Given the description of an element on the screen output the (x, y) to click on. 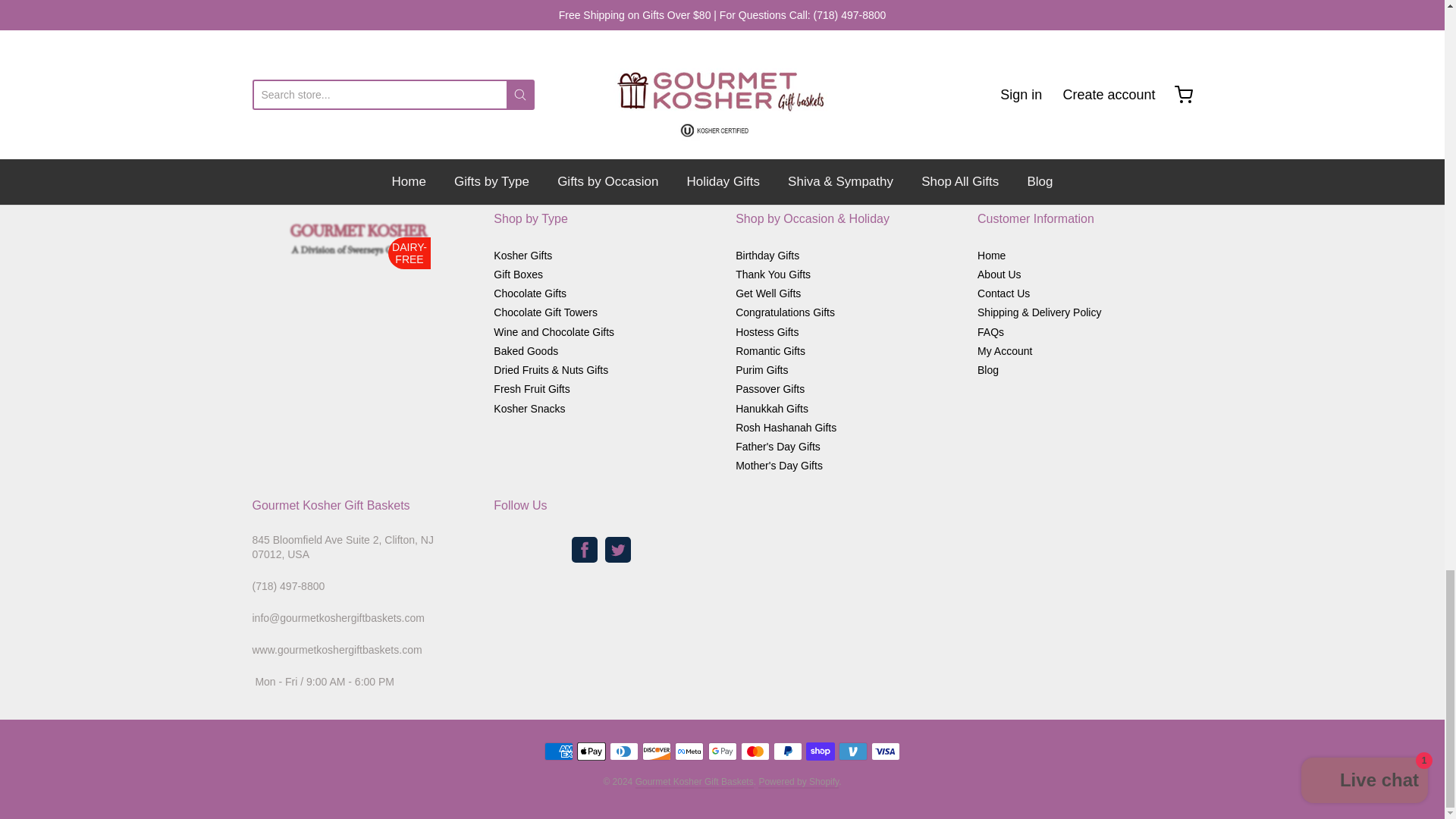
Venmo (852, 751)
American Express (558, 751)
Meta Pay (689, 751)
Shop Pay (820, 751)
Discover (656, 751)
Apple Pay (590, 751)
Mastercard (755, 751)
Visa (884, 751)
PayPal (787, 751)
Google Pay (721, 751)
Diners Club (624, 751)
